Given the description of an element on the screen output the (x, y) to click on. 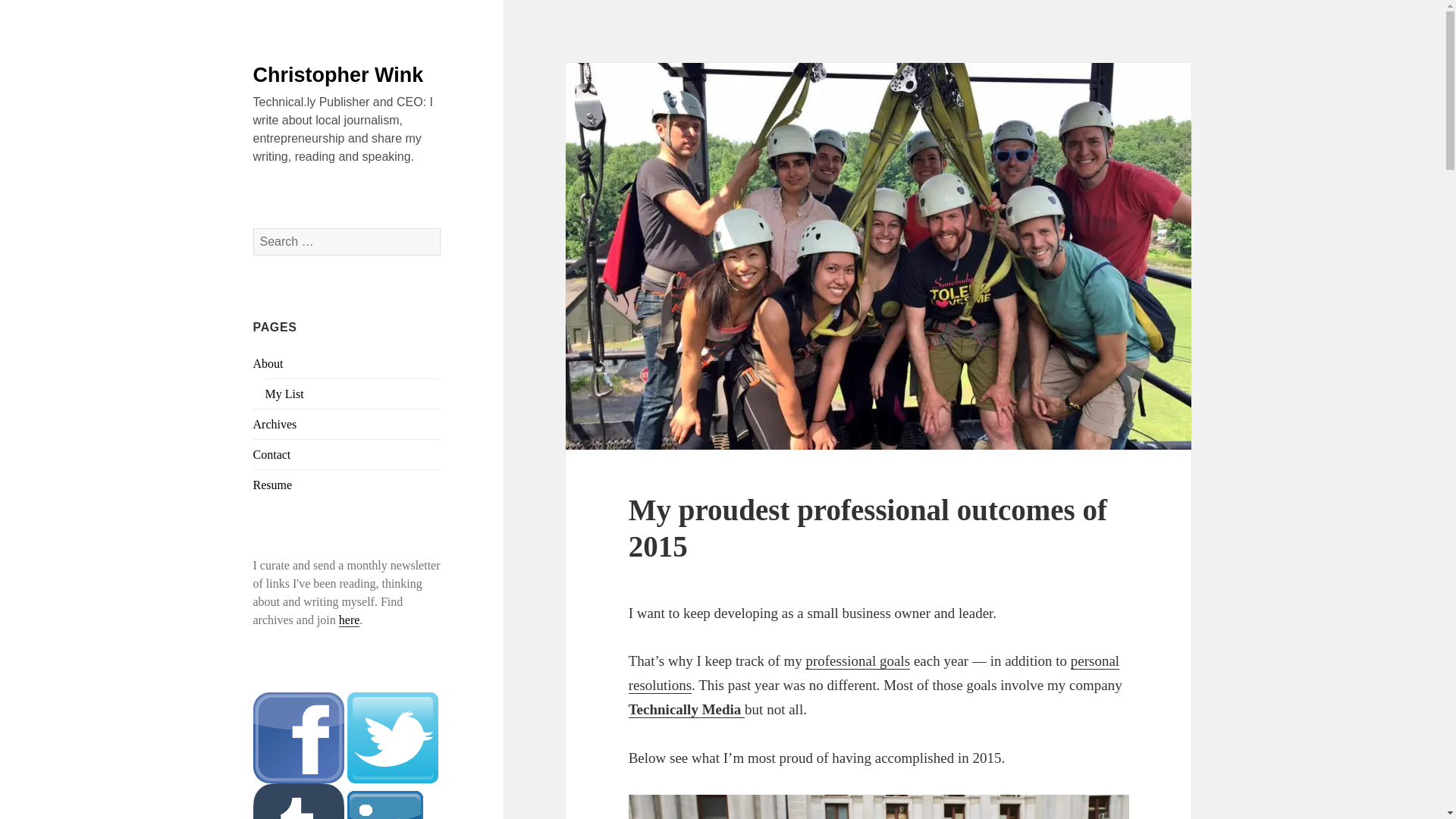
Archives (275, 423)
My List (284, 393)
About (268, 363)
Technically Media (686, 709)
Christopher Wink (338, 74)
Contact (272, 454)
Resume (272, 484)
personal resolutions (873, 672)
here (349, 620)
professional goals (857, 660)
